Given the description of an element on the screen output the (x, y) to click on. 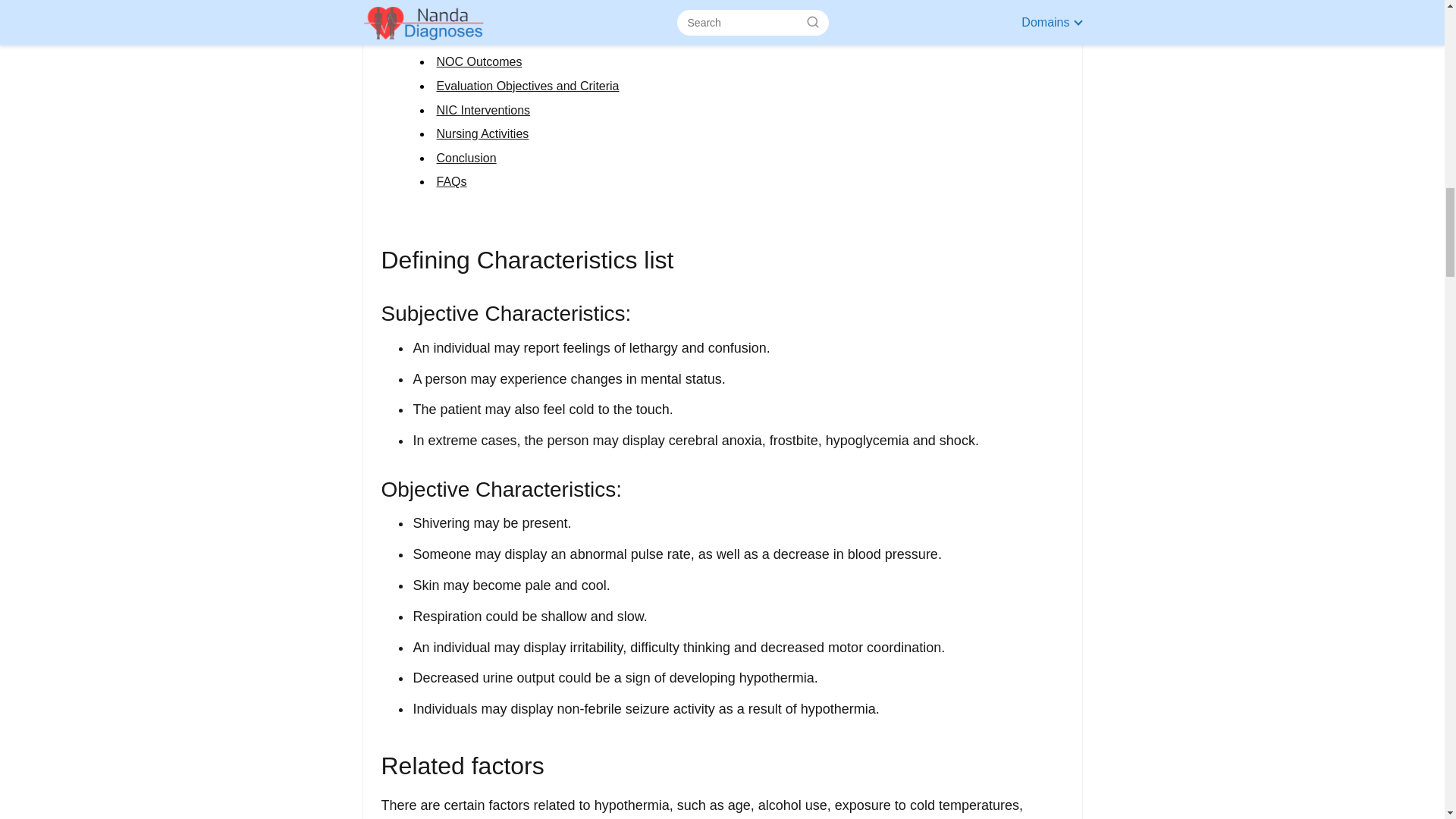
Usage Tips (466, 38)
NIC Interventions (483, 110)
Suggested alternative NANDA Nursing Diagnoses (570, 13)
Evaluation Objectives and Criteria (528, 85)
NOC Outcomes (479, 61)
